Given the description of an element on the screen output the (x, y) to click on. 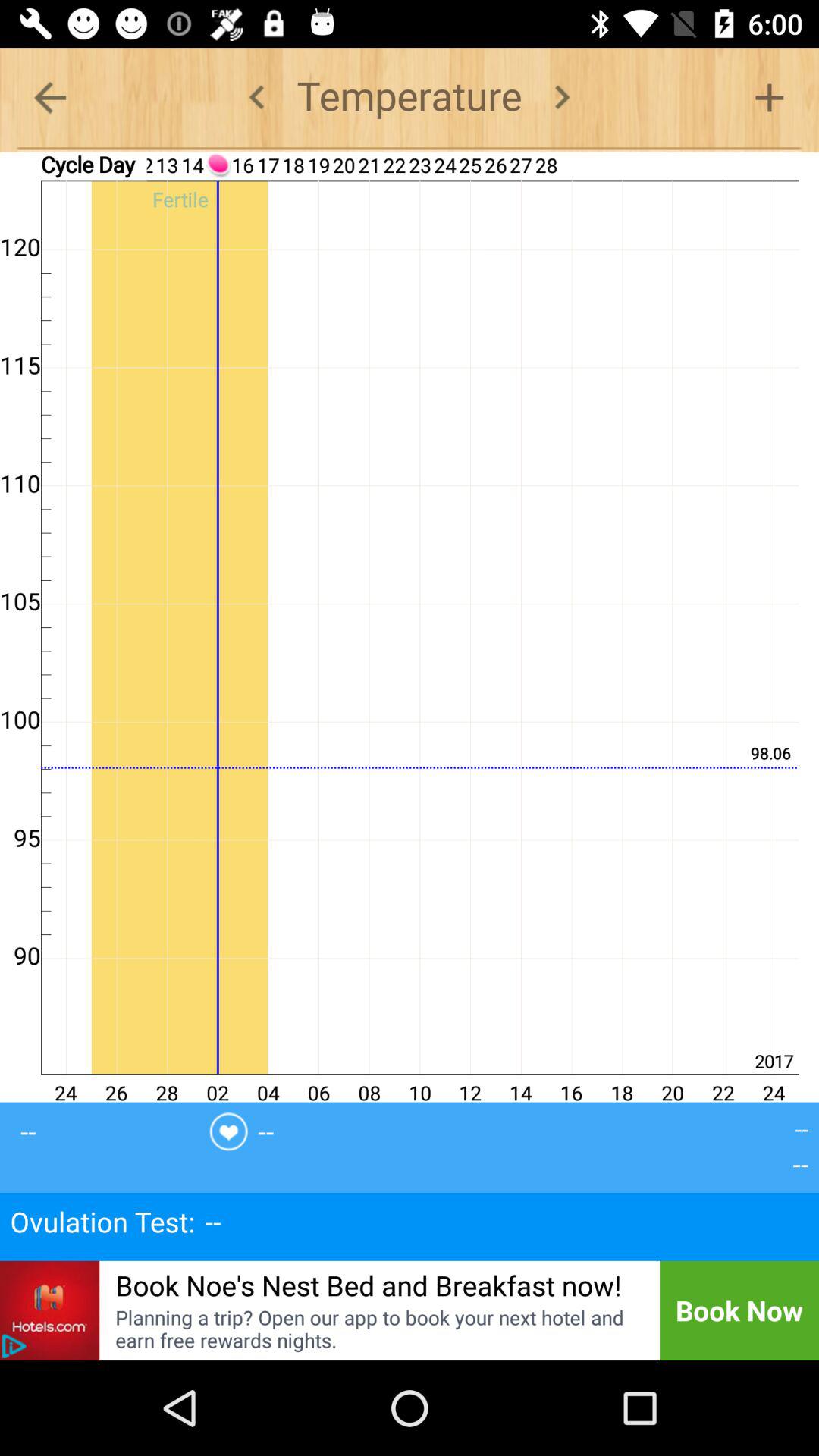
launch the icon below ovulation test icon (368, 1285)
